Given the description of an element on the screen output the (x, y) to click on. 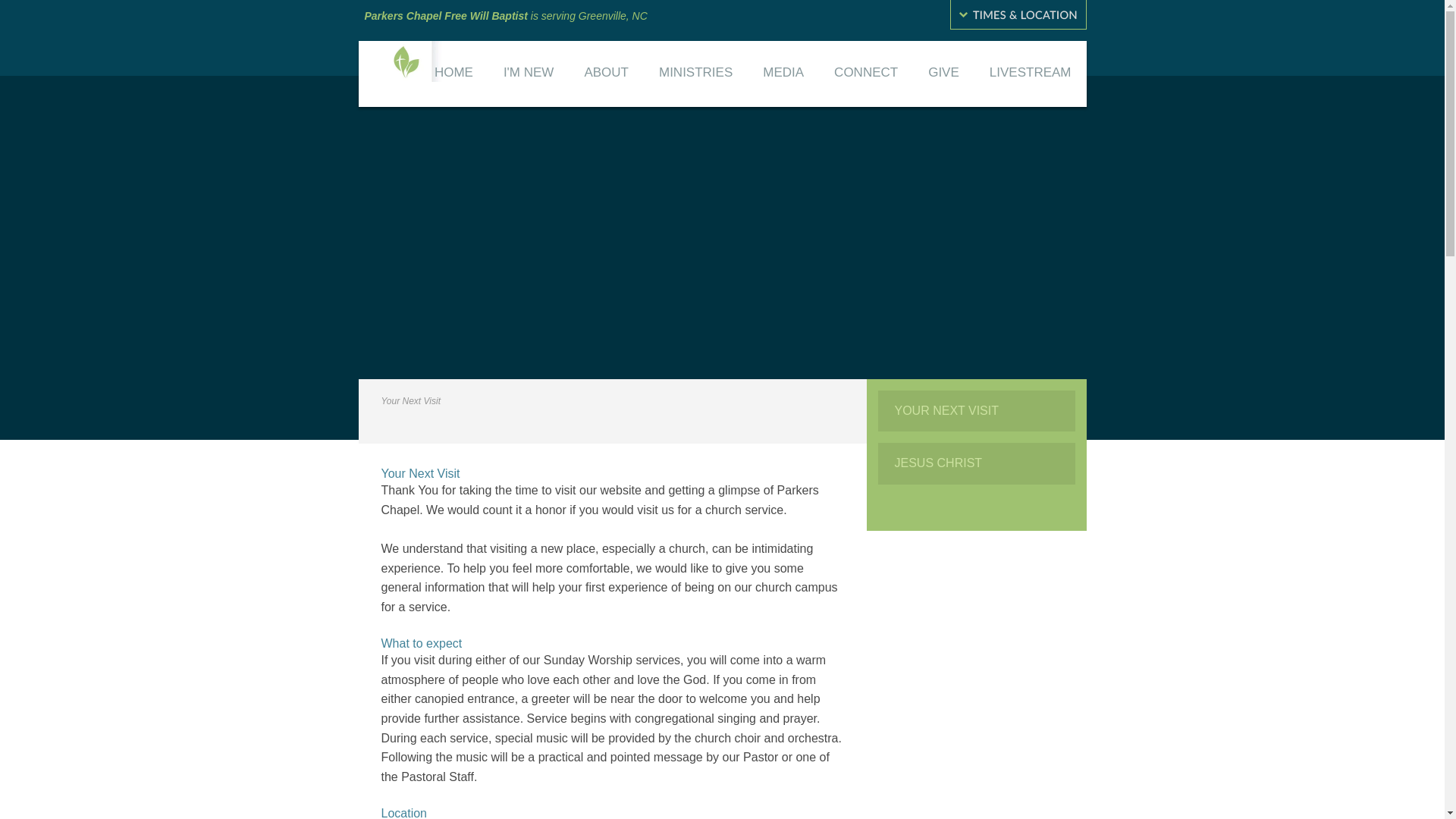
Ministries (695, 73)
HOME (453, 73)
MINISTRIES (695, 73)
ABOUT (606, 73)
Today (453, 73)
LIVESTREAM (1030, 73)
I'm New (528, 73)
MEDIA (783, 73)
CONNECT (865, 73)
About (606, 73)
